Given the description of an element on the screen output the (x, y) to click on. 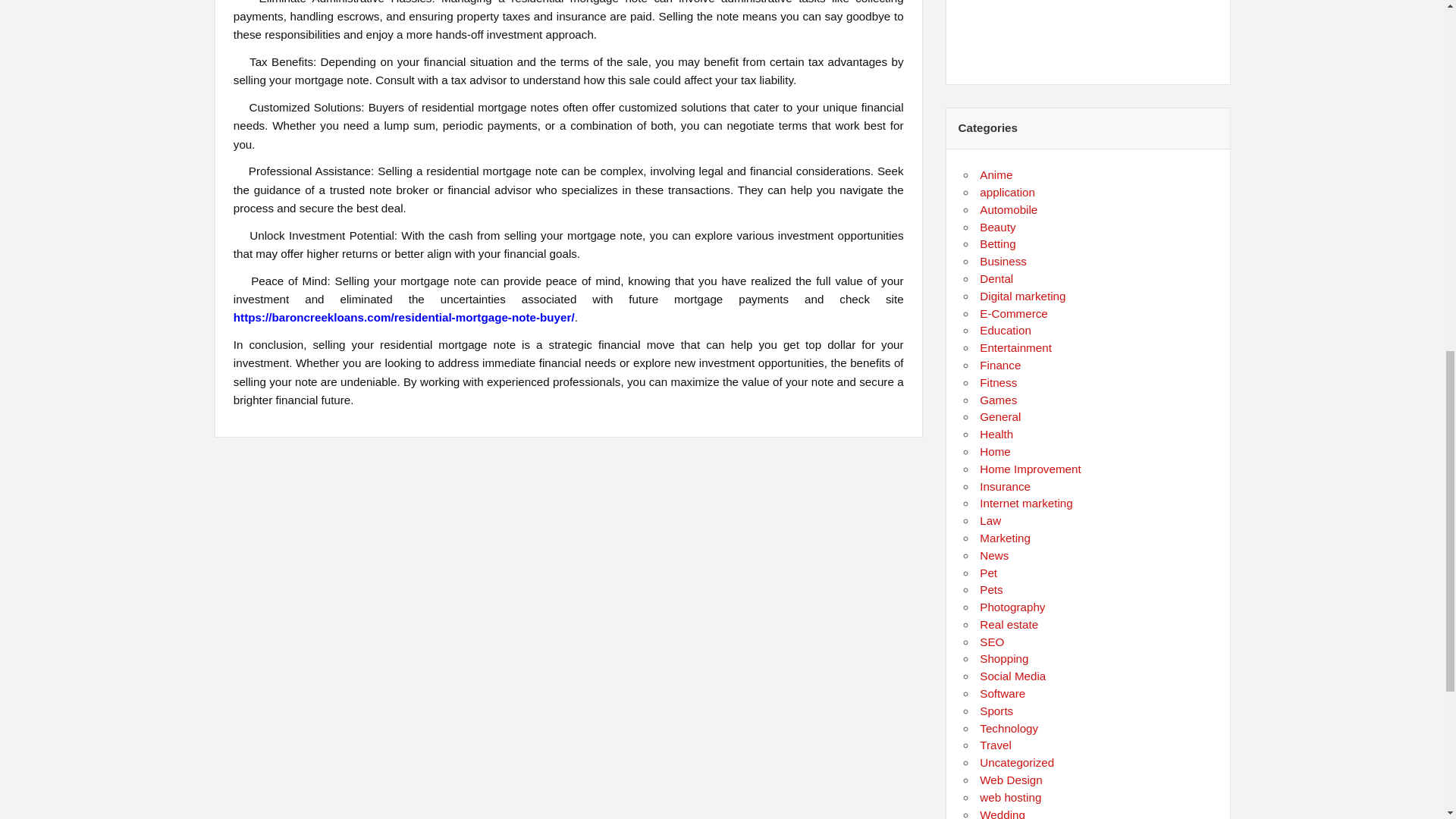
Games (997, 399)
E-Commerce (1012, 313)
Automobile (1007, 209)
Fitness (997, 382)
Marketing (1004, 537)
Entertainment (1015, 347)
Home Improvement (1029, 468)
application (1007, 192)
General (999, 416)
Business (1002, 260)
